Given the description of an element on the screen output the (x, y) to click on. 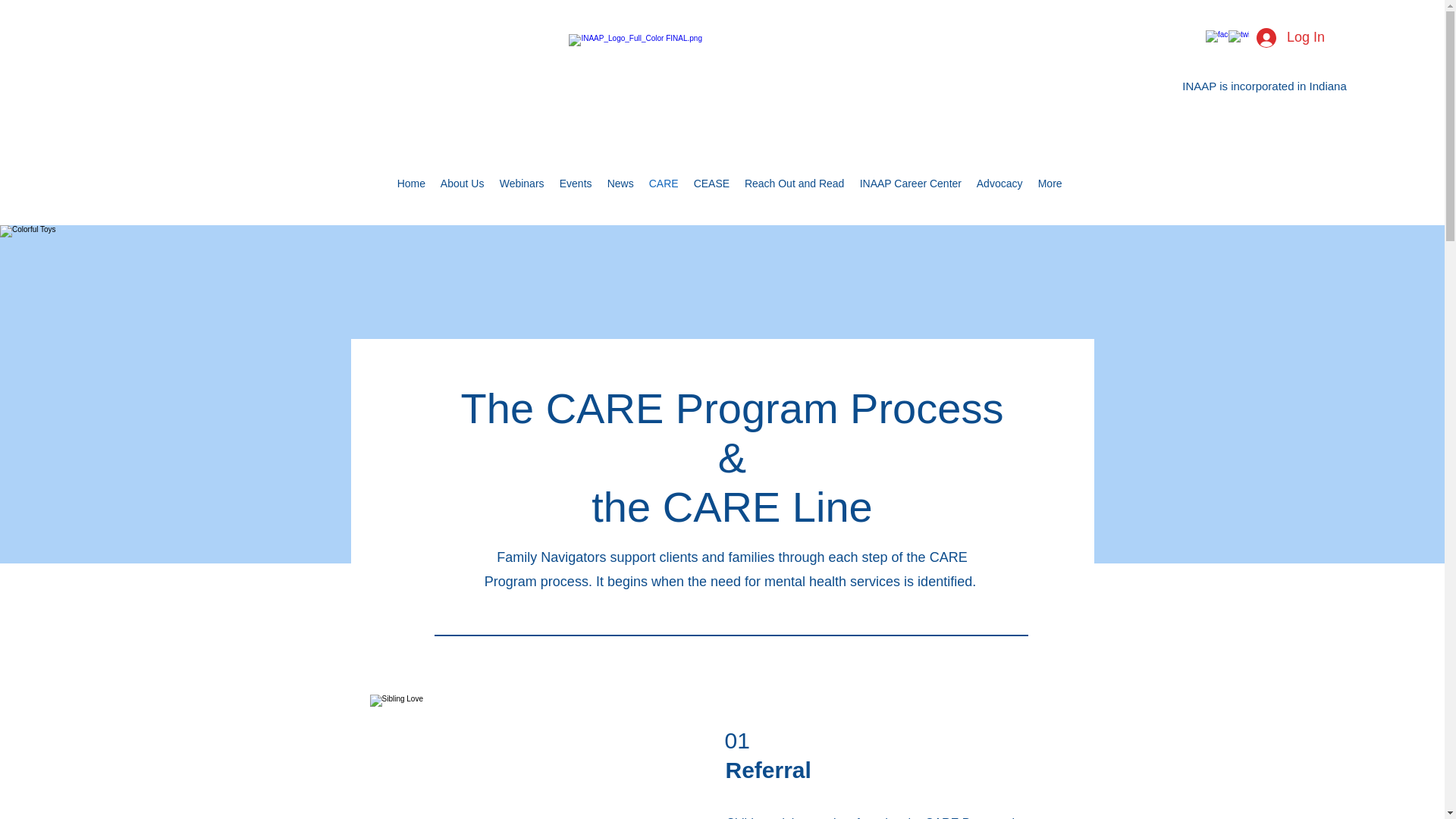
Home (411, 182)
Webinars (521, 182)
CARE (663, 182)
Advocacy (999, 182)
Events (575, 182)
News (620, 182)
INAAP Career Center (910, 182)
CEASE (710, 182)
Log In (1290, 37)
About Us (462, 182)
Reach Out and Read (793, 182)
